Given the description of an element on the screen output the (x, y) to click on. 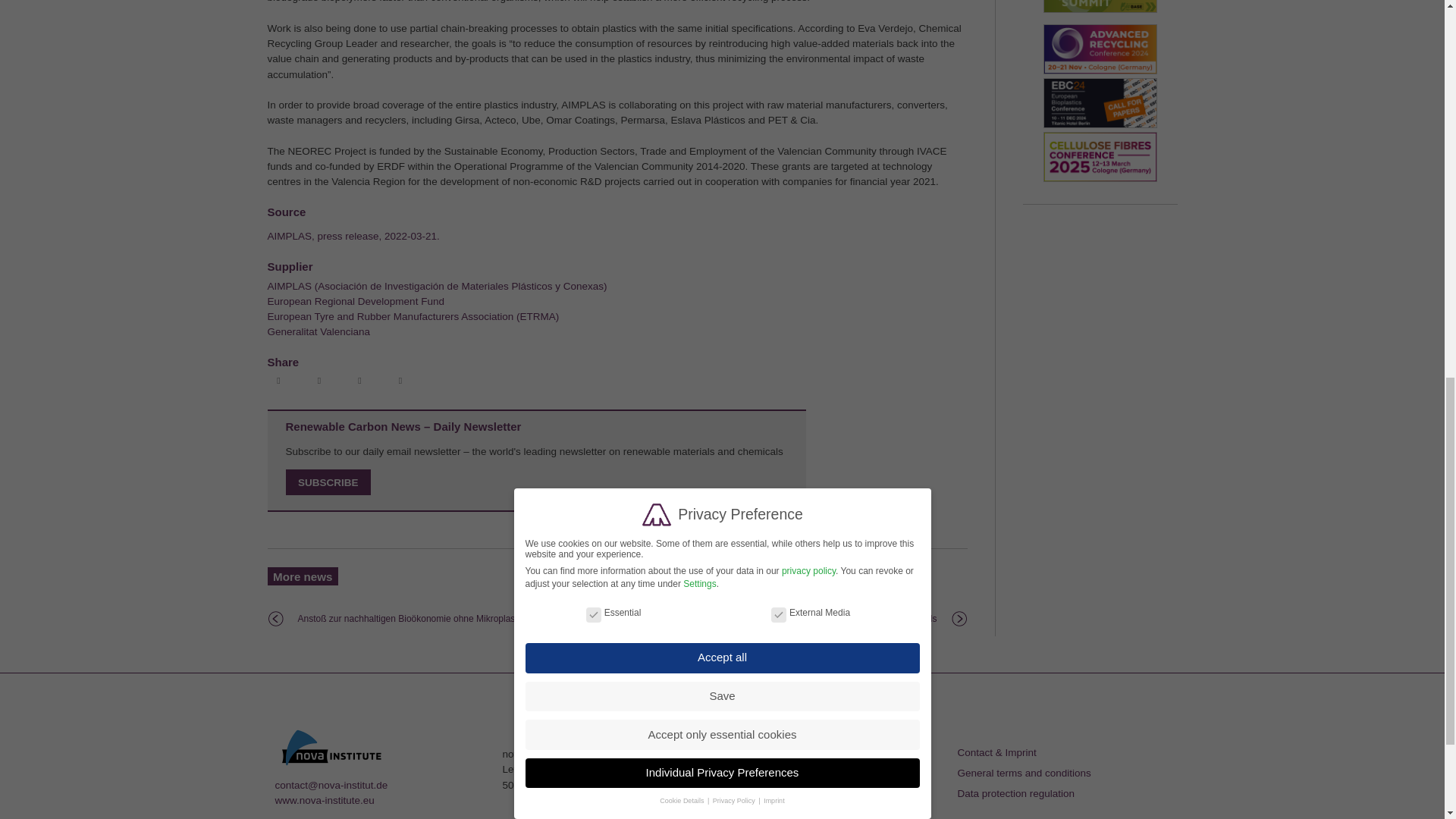
European Regional Development Fund (355, 301)
Bei Facebook teilen (280, 381)
SUBSCRIBE (328, 482)
AIMPLAS, press release, 2022-03-21. (352, 235)
Generalitat Valenciana (317, 331)
This Norwegian start-up makes carbon-negative roads (827, 618)
Bei LinkedIn teilen (360, 381)
Bei Twitter teilen (320, 381)
Per E-Mail versenden (401, 381)
